Given the description of an element on the screen output the (x, y) to click on. 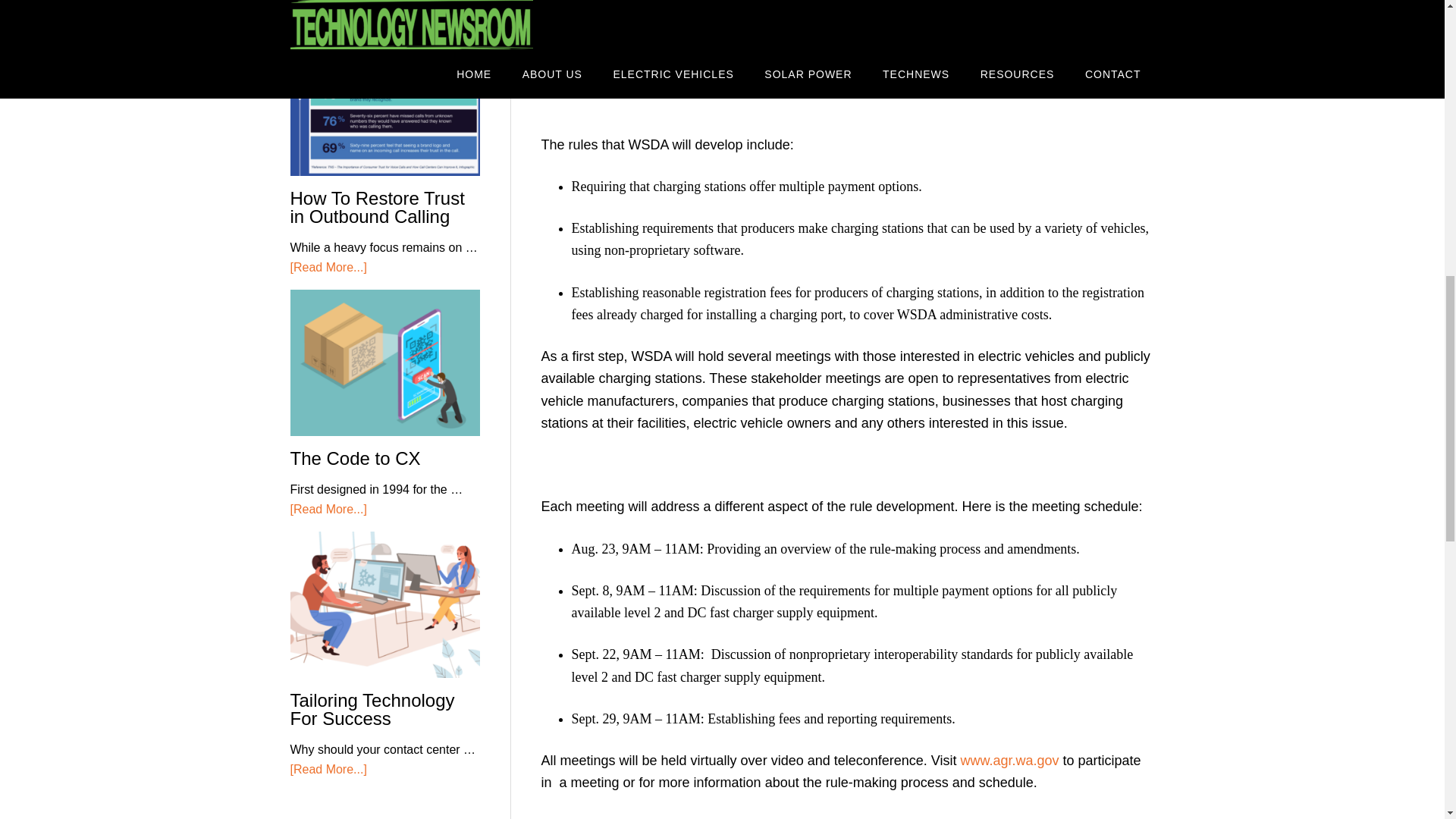
The Code to CX (354, 457)
How To Restore Trust in Outbound Calling (376, 207)
Tailoring Technology For Success (371, 709)
www.agr.wa.gov (1008, 760)
